Given the description of an element on the screen output the (x, y) to click on. 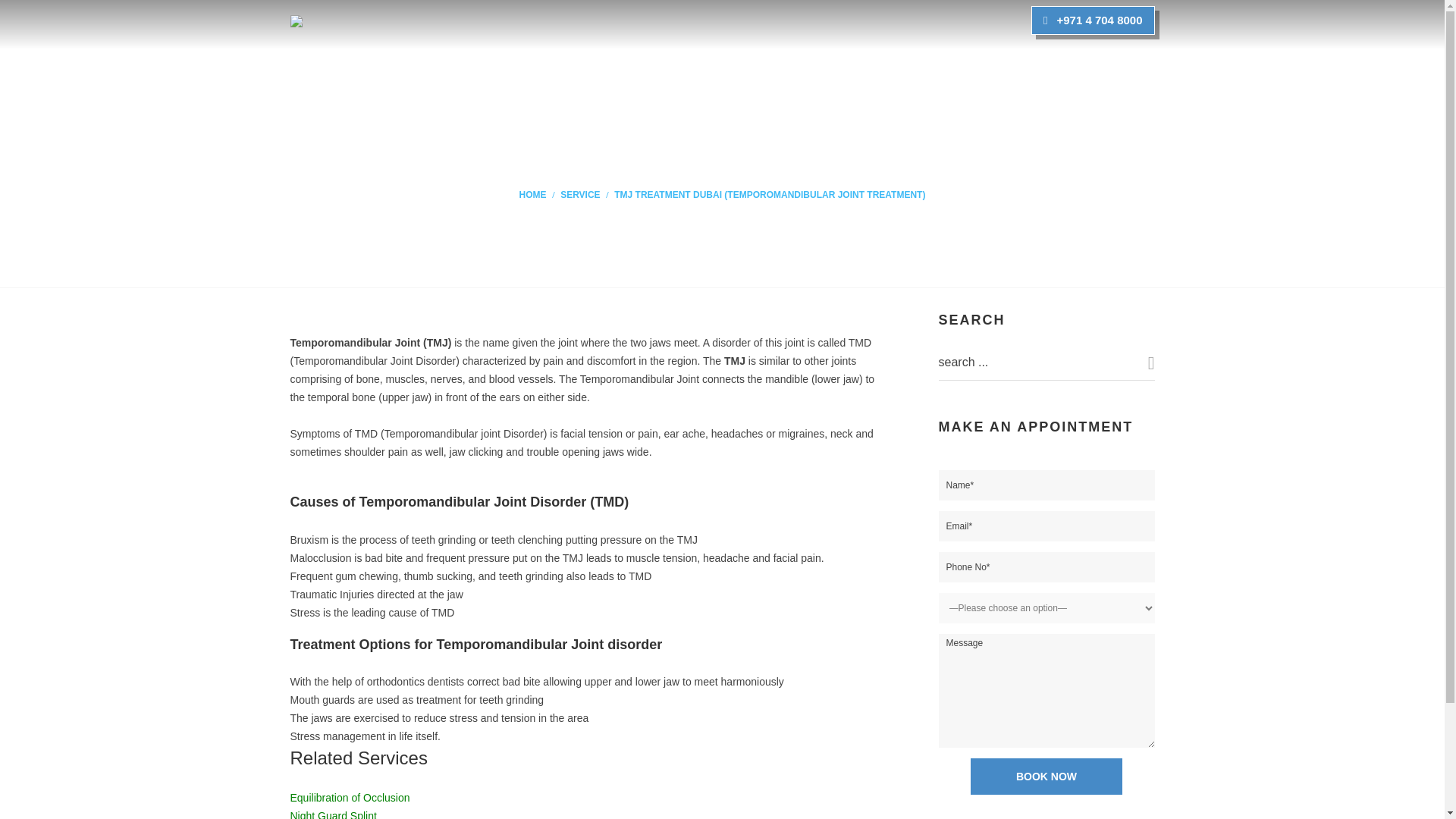
HOME (533, 194)
SERVICE (579, 194)
Book Now (1046, 776)
